Given the description of an element on the screen output the (x, y) to click on. 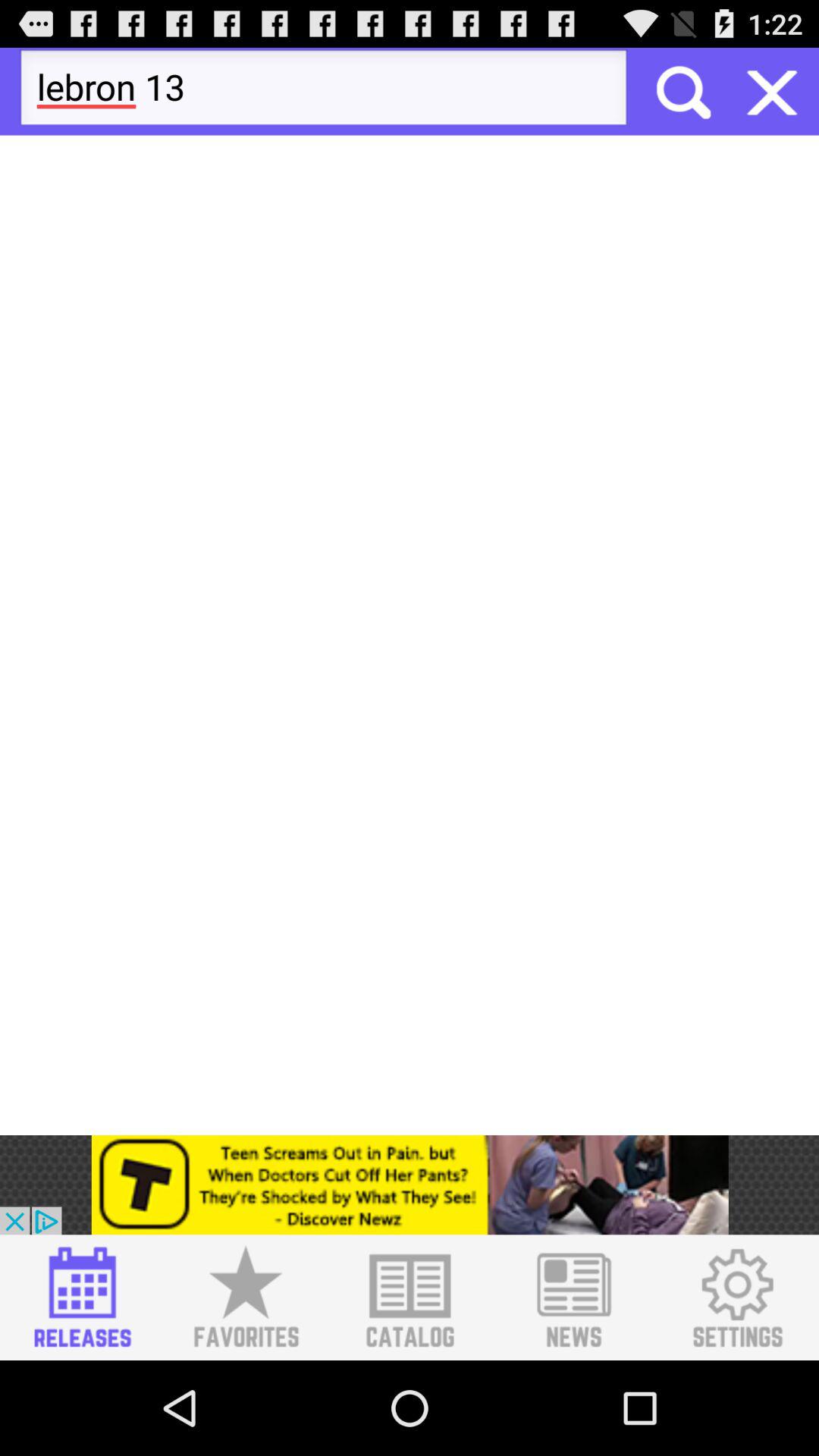
open your favorites (245, 1297)
